Given the description of an element on the screen output the (x, y) to click on. 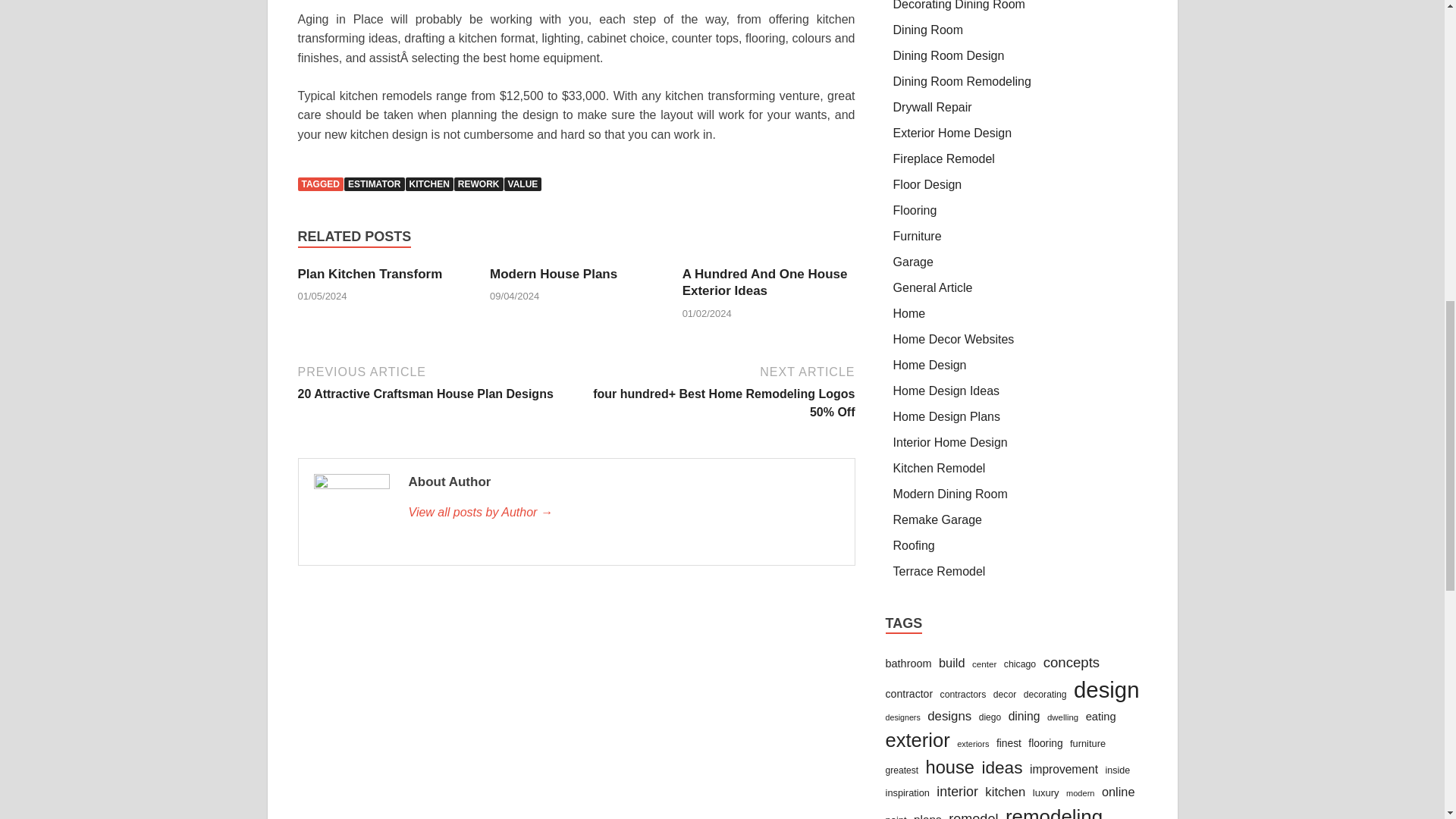
Modern House Plans (553, 273)
Author (622, 512)
A Hundred And One House Exterior Ideas (764, 282)
Plan Kitchen Transform (369, 273)
VALUE (522, 183)
REWORK (478, 183)
KITCHEN (429, 183)
ESTIMATOR (373, 183)
Plan Kitchen Transform (369, 273)
